Given the description of an element on the screen output the (x, y) to click on. 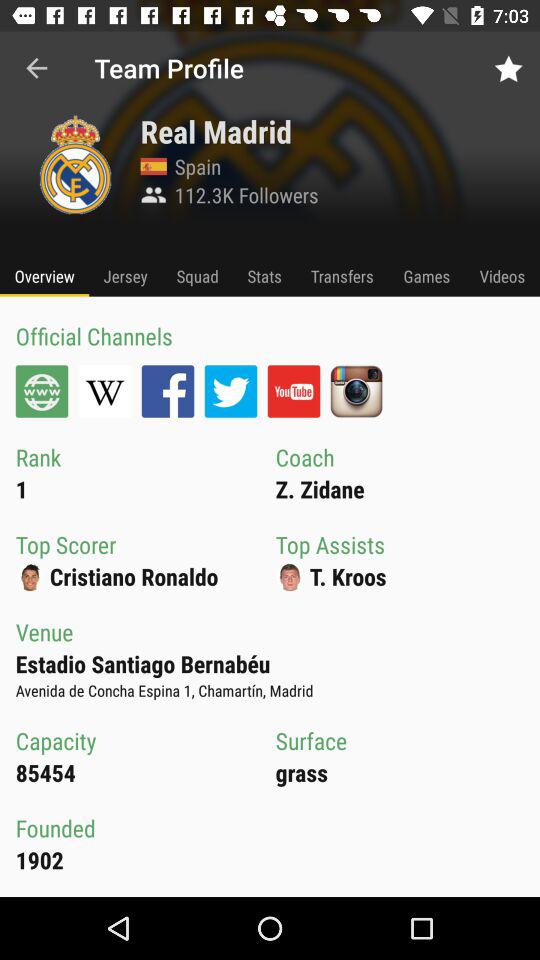
turn off icon to the left of the team profile item (36, 68)
